Given the description of an element on the screen output the (x, y) to click on. 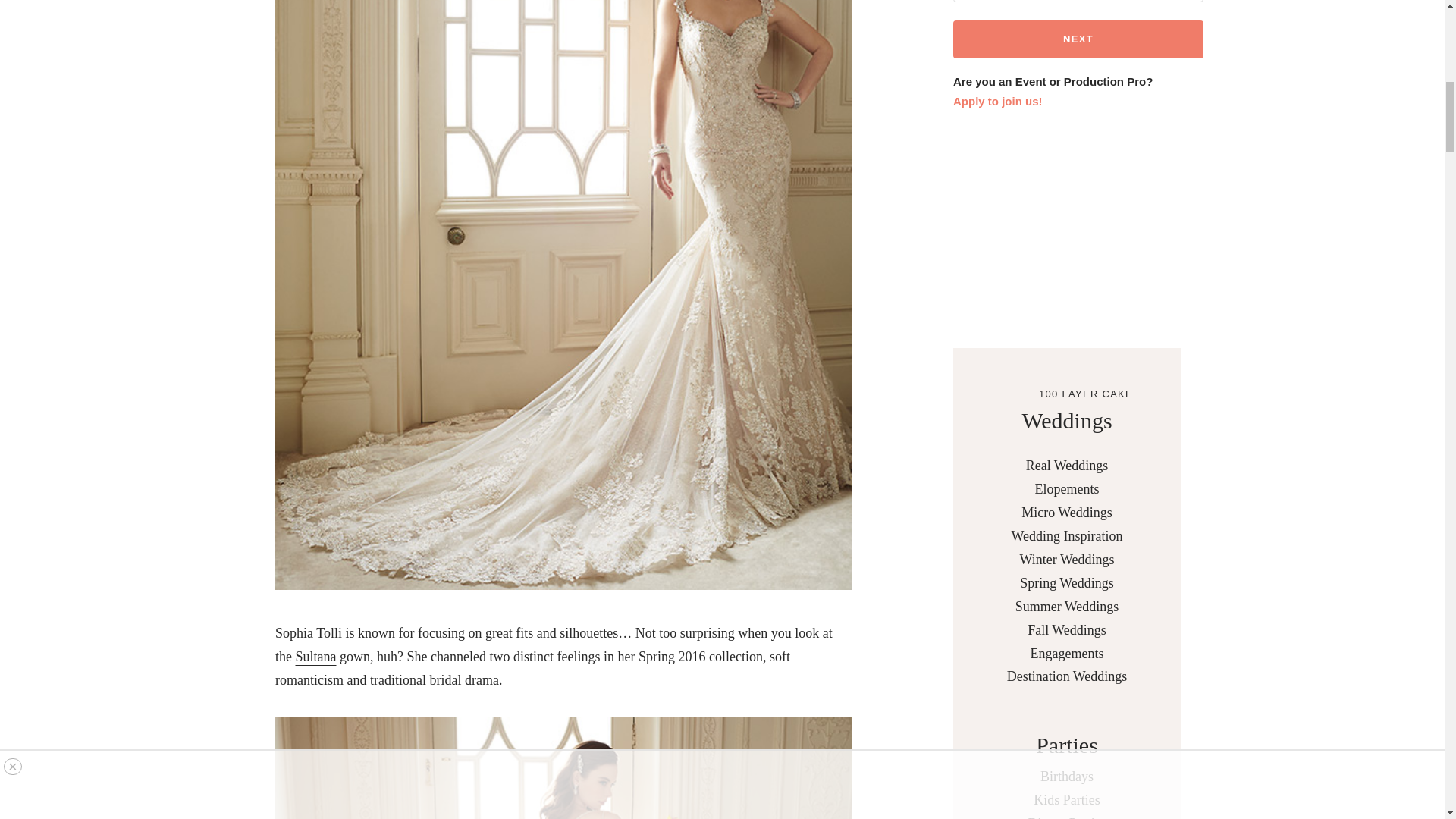
Sultana (315, 656)
Next (1078, 39)
